Given the description of an element on the screen output the (x, y) to click on. 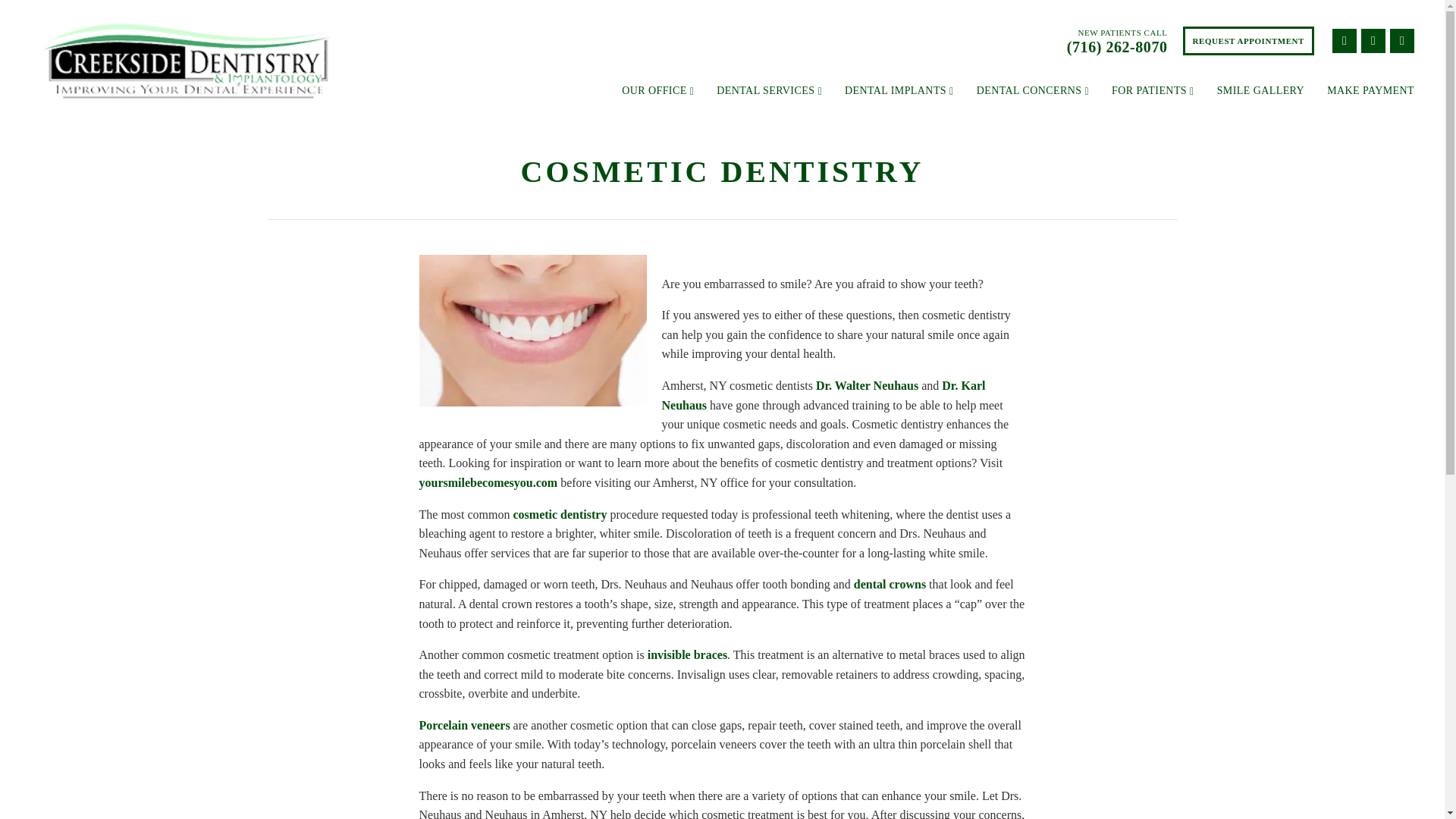
DENTAL IMPLANTS (898, 90)
REQUEST APPOINTMENT (1248, 40)
OUR OFFICE (657, 90)
DENTAL SERVICES (769, 90)
